Given the description of an element on the screen output the (x, y) to click on. 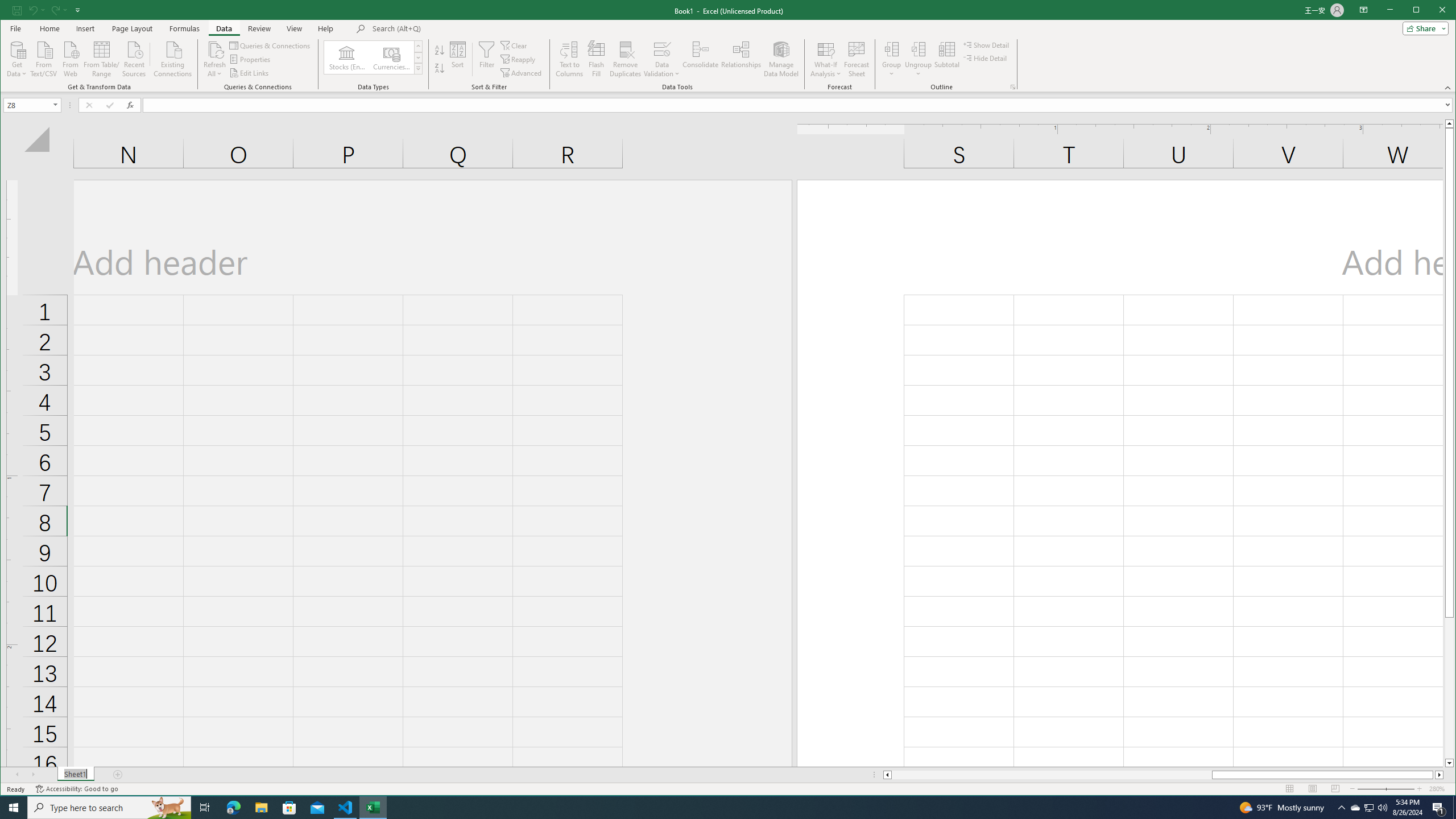
Sort A to Z (1368, 807)
Excel - 1 running window (439, 49)
Remove Duplicates (373, 807)
Sheet1 (625, 59)
Search highlights icon opens search home window (75, 774)
Stocks (English) (167, 807)
Properties (346, 57)
